Given the description of an element on the screen output the (x, y) to click on. 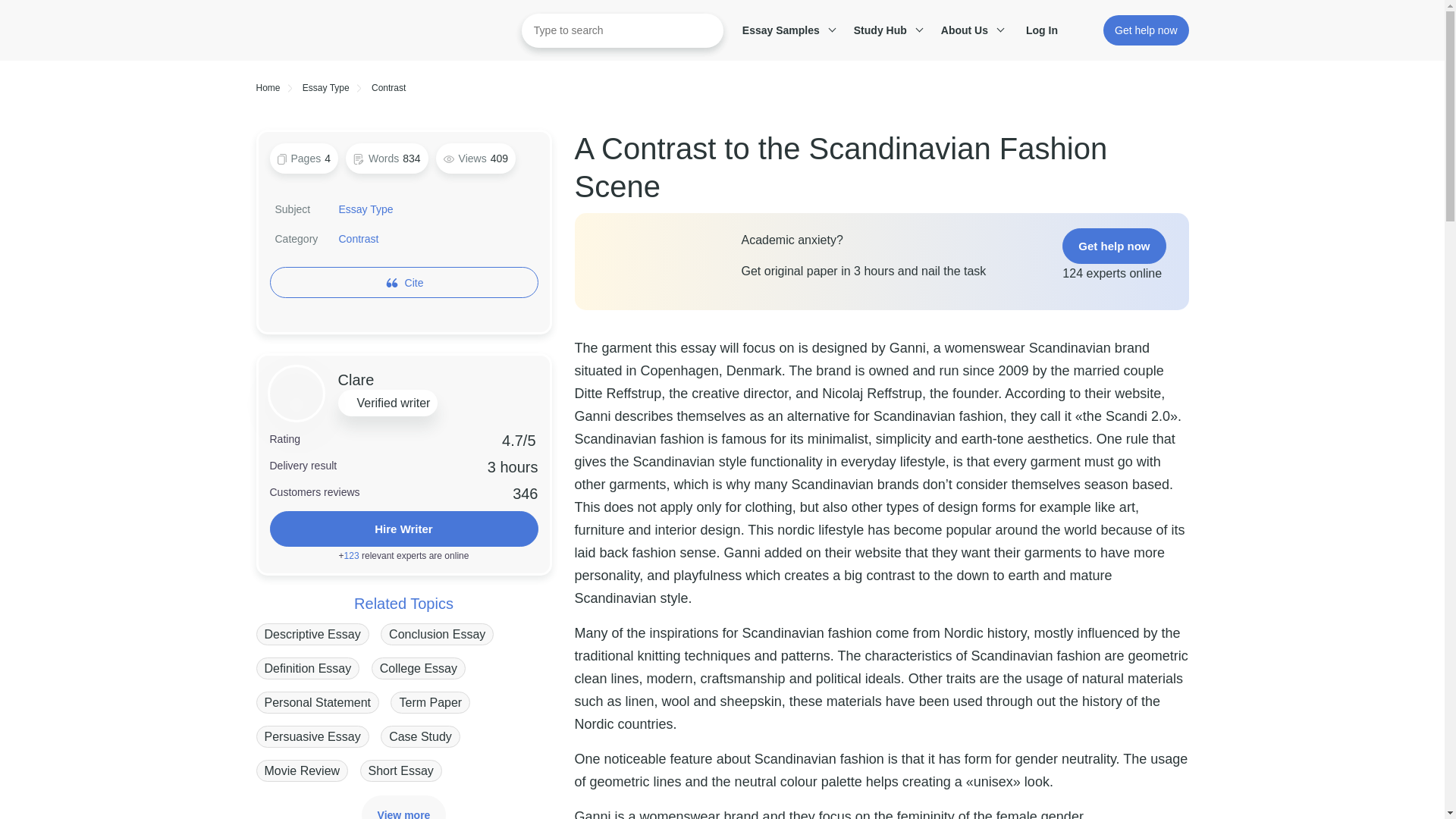
Essay Type (365, 209)
Home (268, 87)
About Us (970, 30)
Essay Type (325, 87)
Log In (1049, 30)
Study Hub (886, 30)
Essay Samples (786, 30)
Contrast (388, 87)
Contrast (358, 238)
Cite (413, 281)
